Given the description of an element on the screen output the (x, y) to click on. 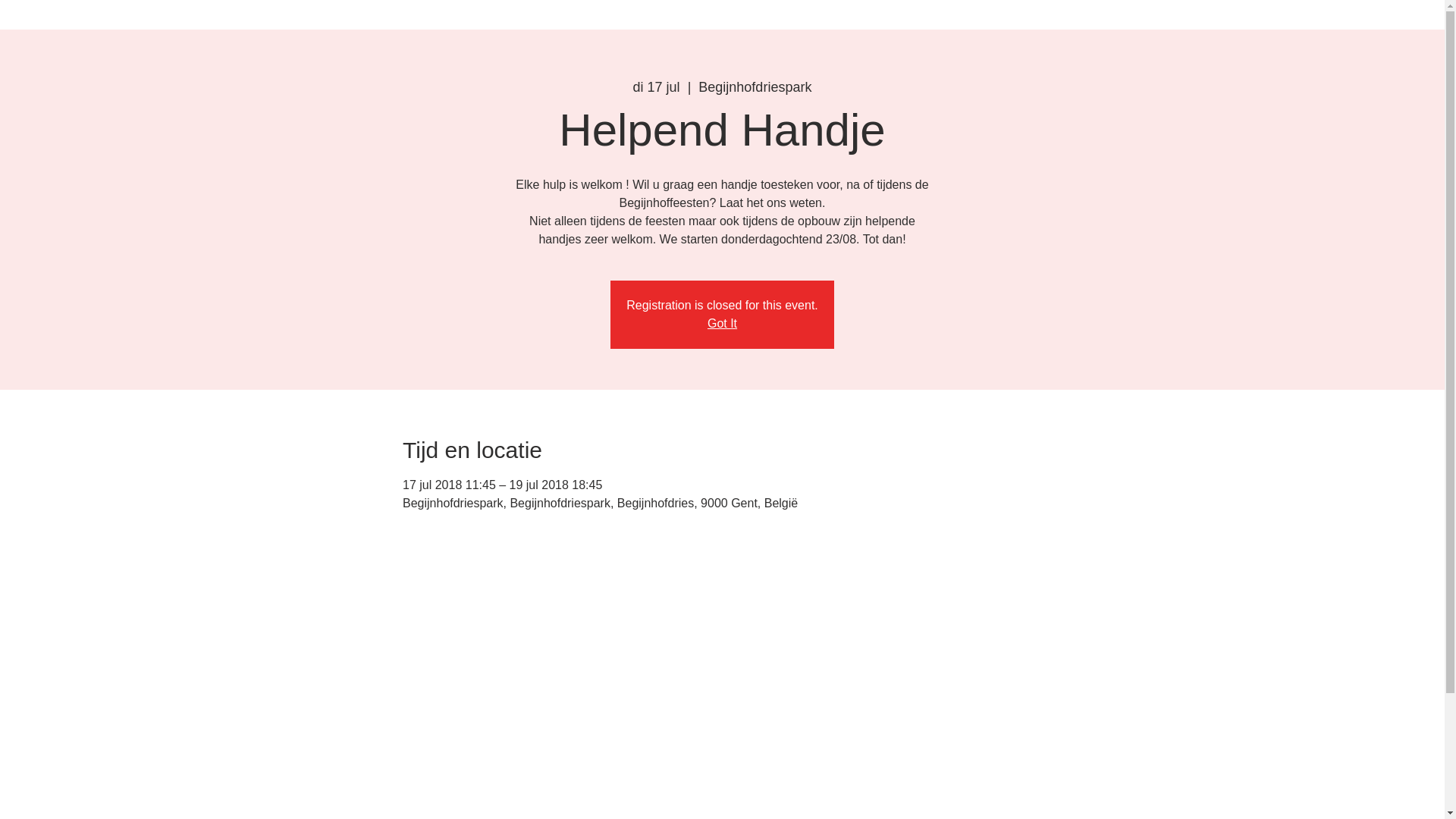
Got It Element type: text (722, 322)
